Given the description of an element on the screen output the (x, y) to click on. 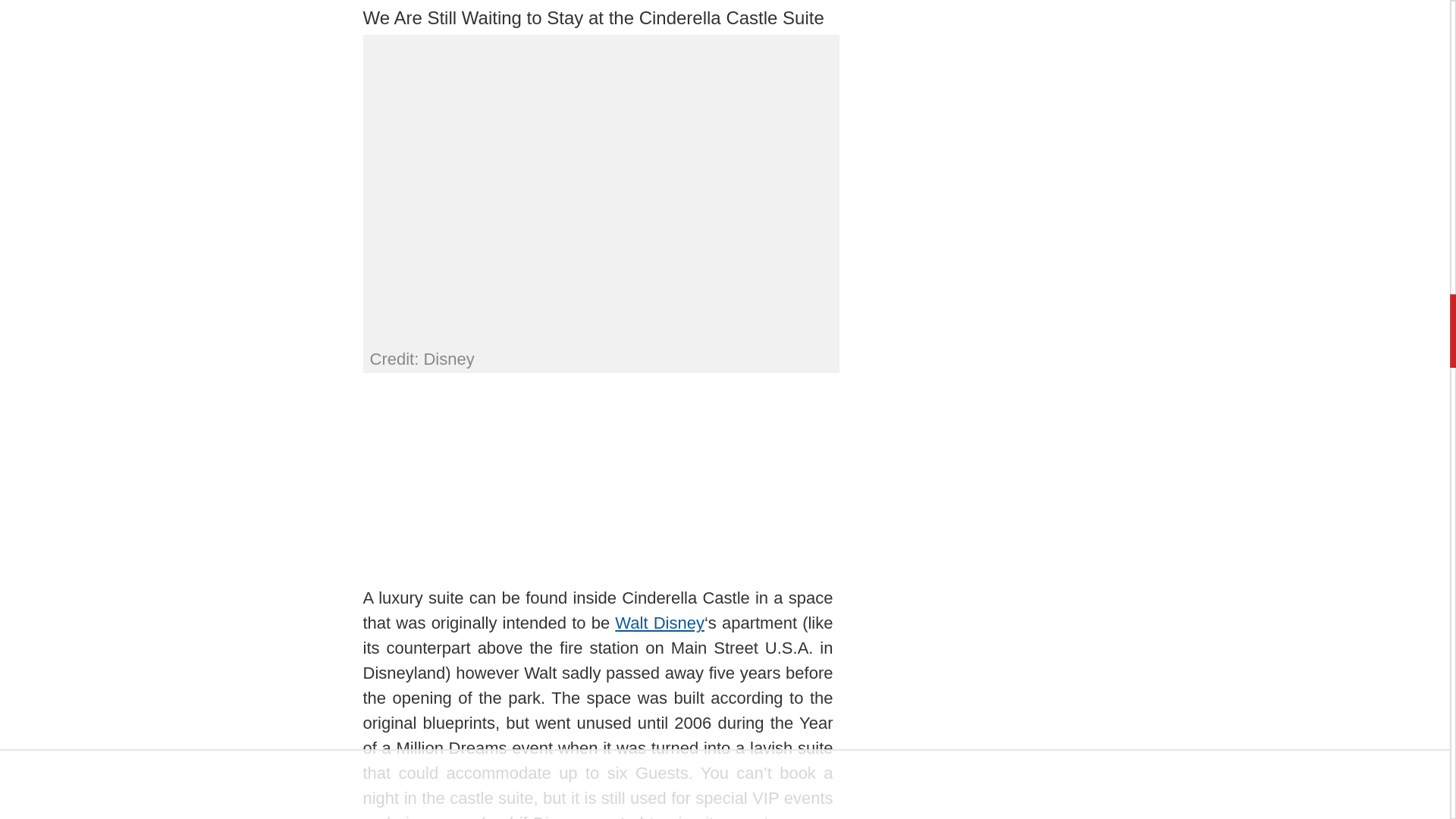
Walt Disney (659, 622)
